Given the description of an element on the screen output the (x, y) to click on. 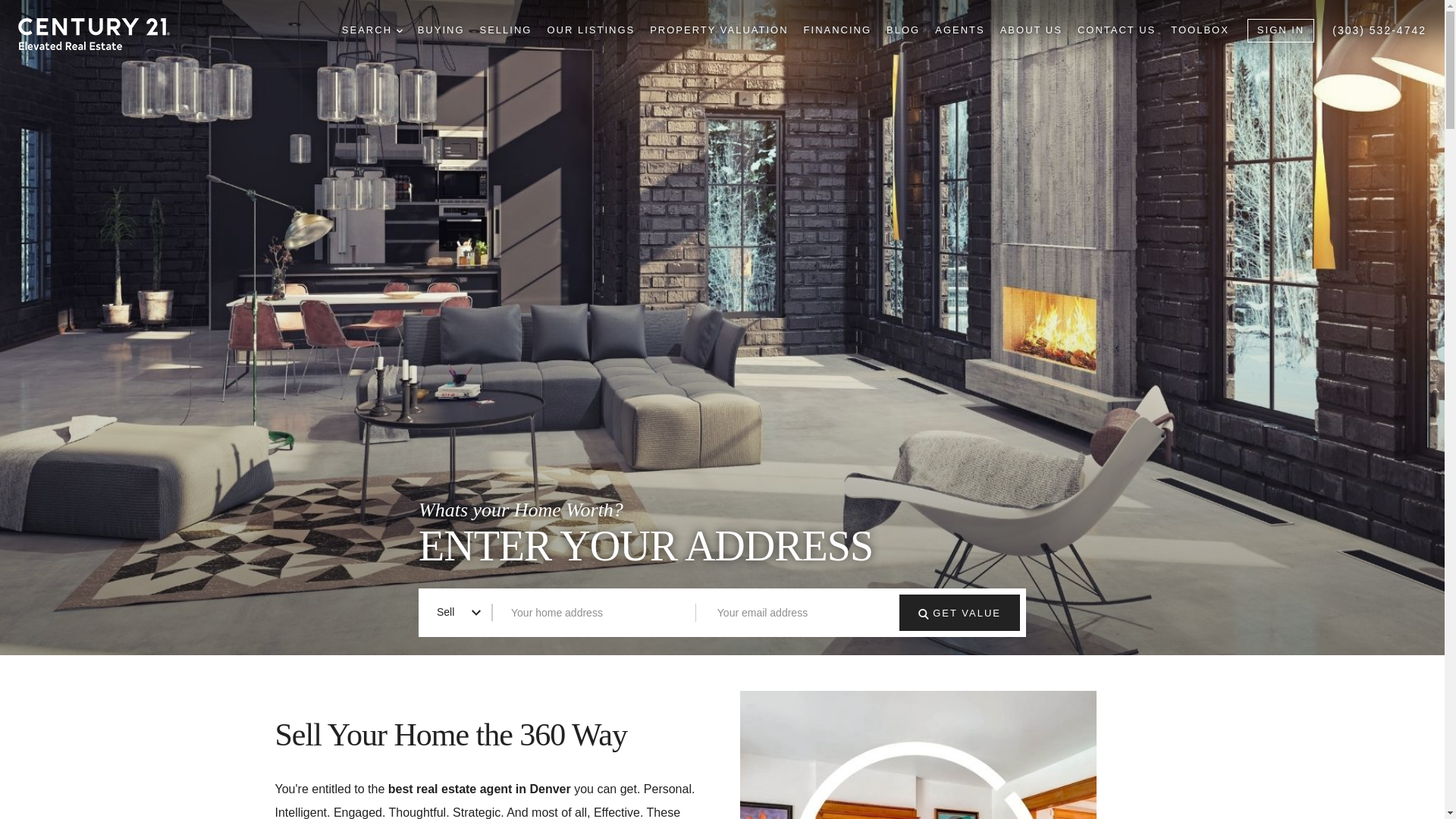
BLOG (903, 30)
Get value (923, 614)
FINANCING (837, 30)
SEARCH DROPDOWN ARROW (372, 30)
OUR LISTINGS (590, 30)
CONTACT US (1116, 30)
AGENTS (959, 30)
BUYING (440, 30)
ABOUT US (1031, 30)
SIGN IN (1280, 30)
TOOLBOX (1199, 30)
GET VALUE (959, 612)
Sell (459, 611)
PROPERTY VALUATION (718, 30)
SELLING (505, 30)
